Given the description of an element on the screen output the (x, y) to click on. 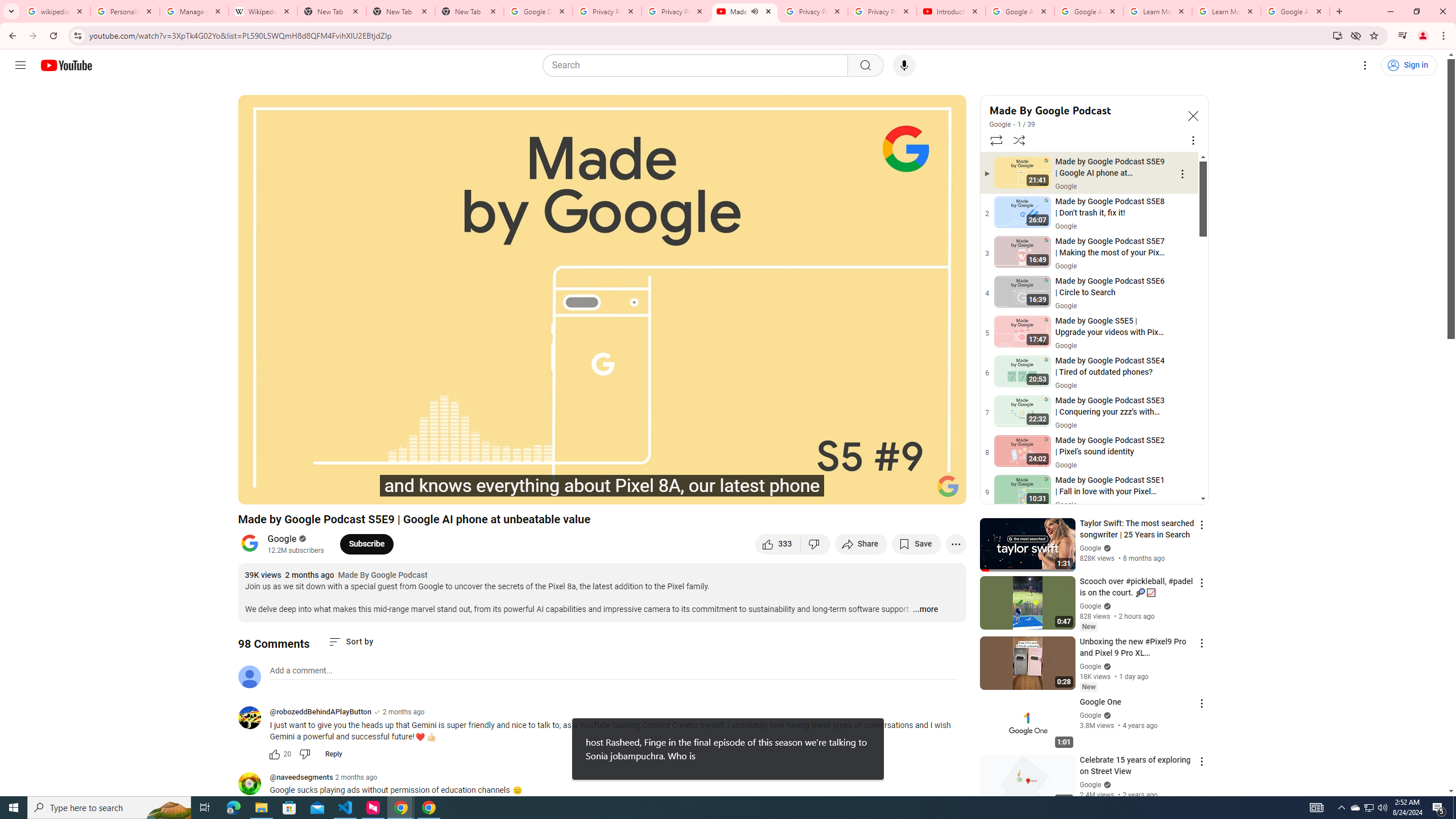
Subscribe to Google. (366, 543)
Mute (m) (338, 490)
Channel watermark (947, 486)
Wikipedia:Edit requests - Wikipedia (263, 11)
Pause (k) (285, 490)
2 months ago (355, 777)
